Given the description of an element on the screen output the (x, y) to click on. 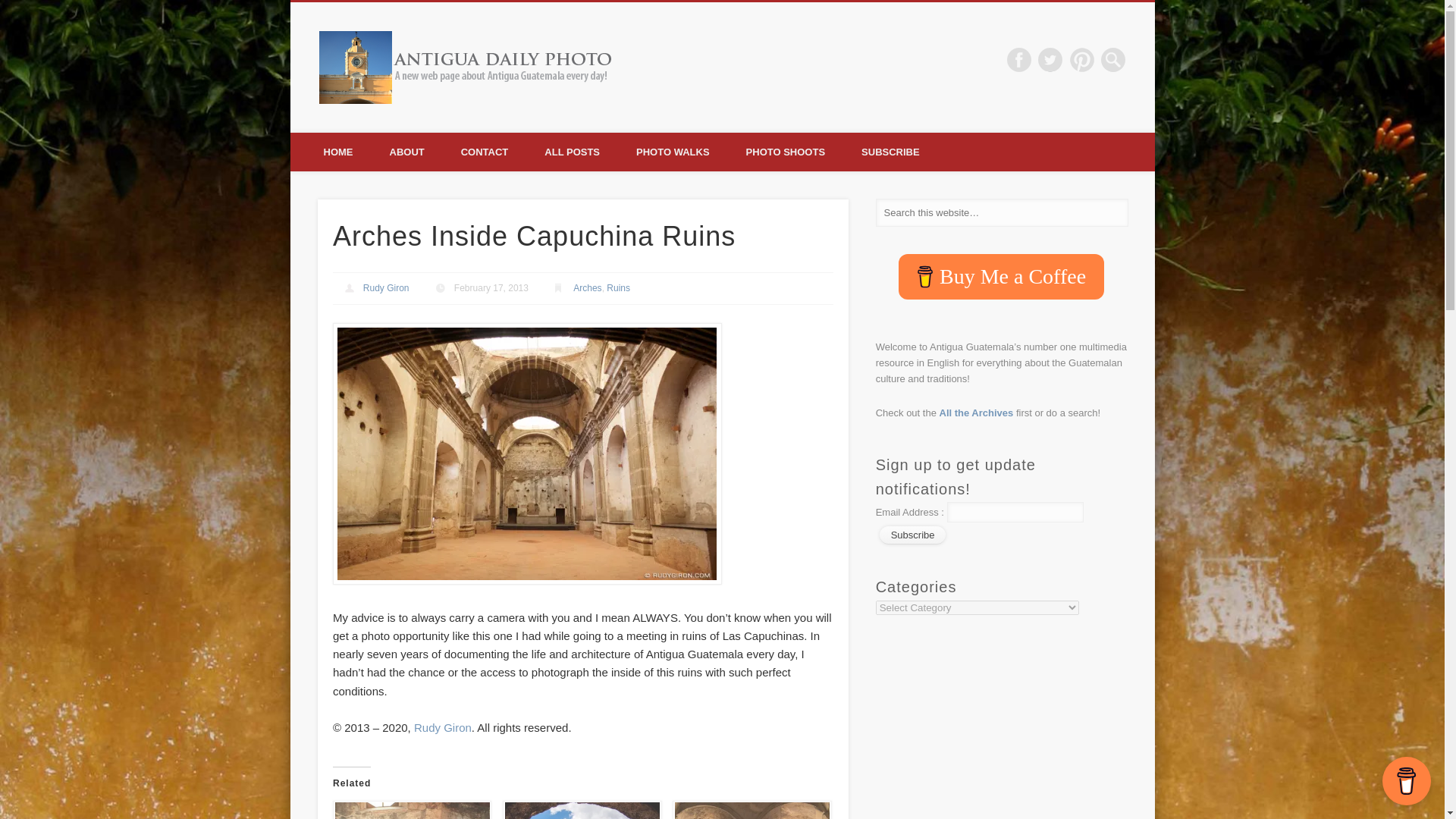
Las Capuchinas Ruins Stairway (410, 809)
Ruins (618, 287)
Pinterest (1082, 59)
Facebook (1018, 59)
SUBSCRIBE (890, 151)
Buy Me a Coffee (1000, 276)
Twitter (1050, 59)
All the Archives (976, 412)
Arches (587, 287)
The Circular Ruins of Las Capuchinas in Antigua Guatemala (580, 809)
Search (11, 7)
Arches Inside Capuchina Ruins (527, 580)
ABOUT (406, 151)
Rudy Giron (442, 727)
AntiguaDailyPhoto.Com (752, 59)
